Given the description of an element on the screen output the (x, y) to click on. 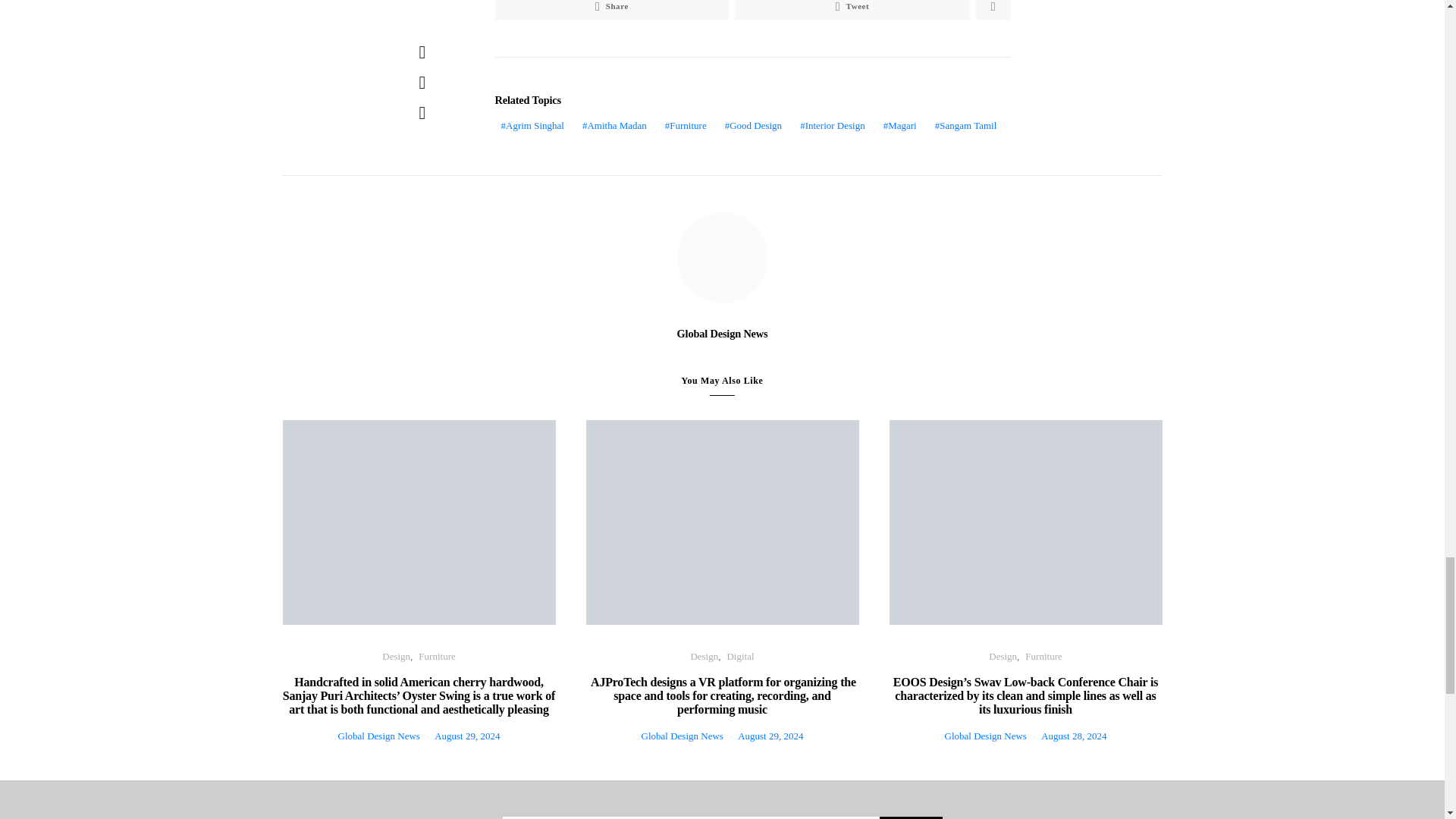
View all posts by Global Design News (378, 736)
View all posts by Global Design News (985, 736)
View all posts by Global Design News (682, 736)
